Given the description of an element on the screen output the (x, y) to click on. 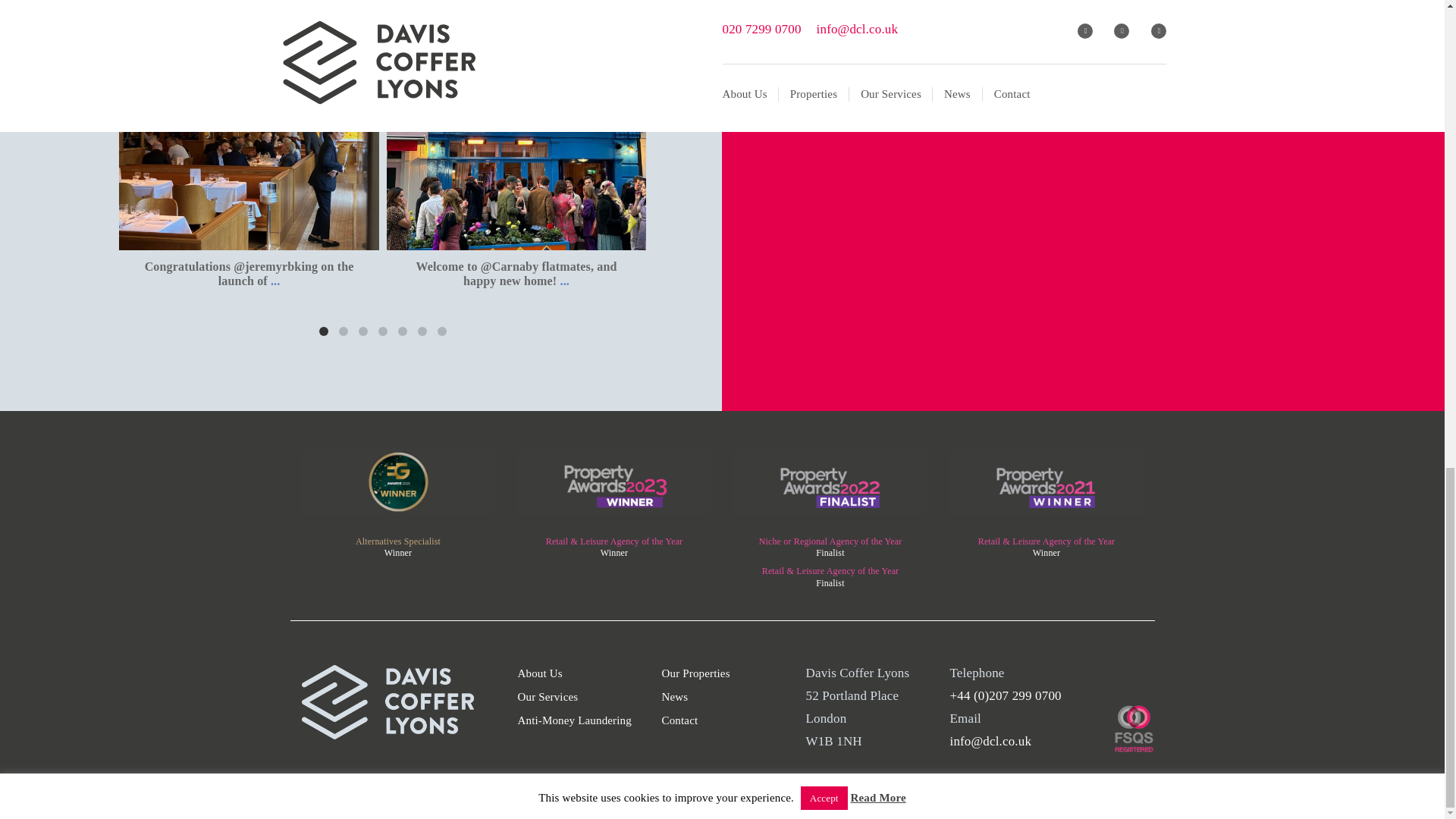
... (274, 280)
